Given the description of an element on the screen output the (x, y) to click on. 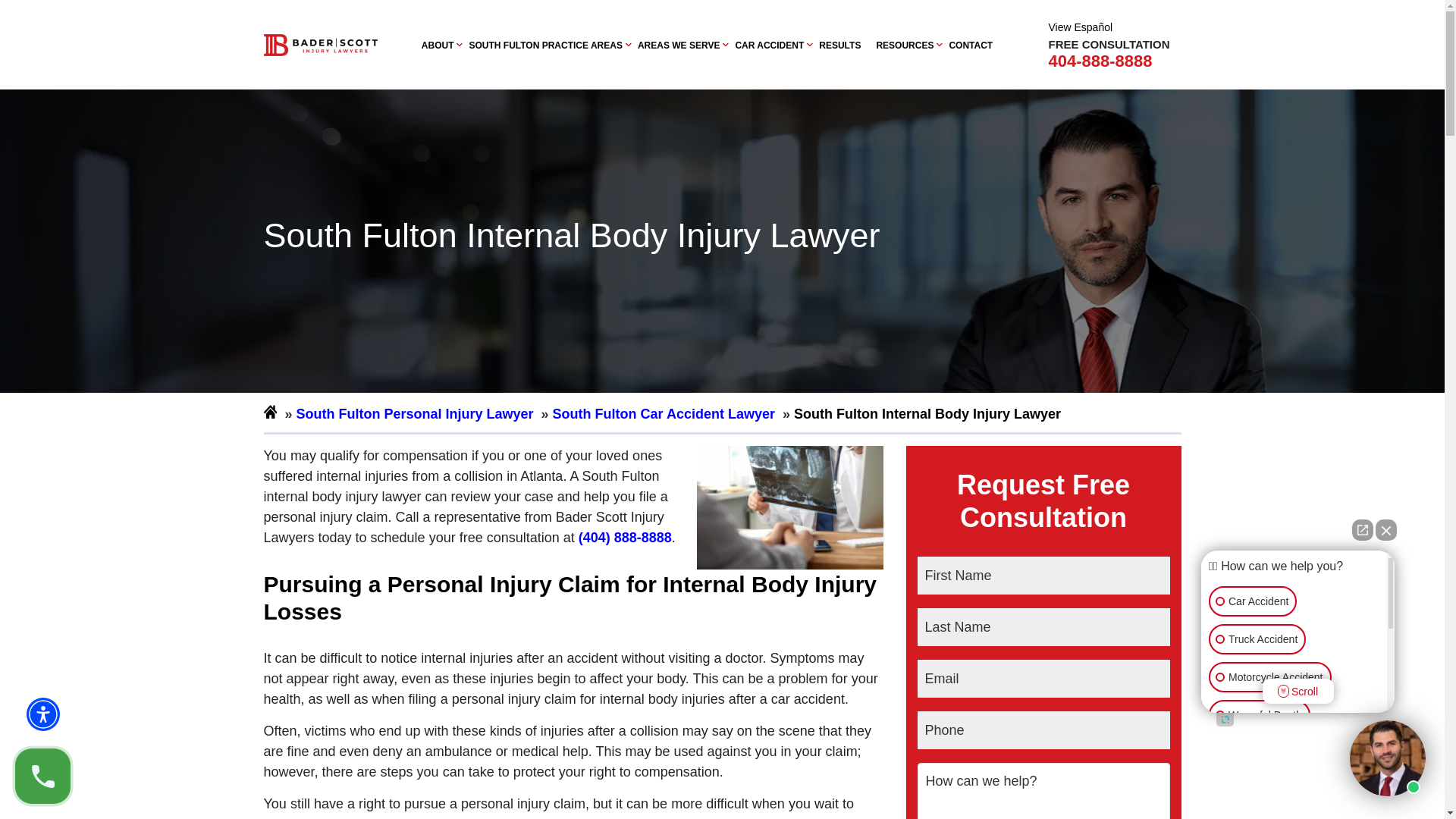
CAR ACCIDENT (769, 45)
ABOUT (438, 45)
SOUTH FULTON PRACTICE AREAS (544, 45)
Accessibility Menu (42, 714)
AREAS WE SERVE (678, 45)
